Given the description of an element on the screen output the (x, y) to click on. 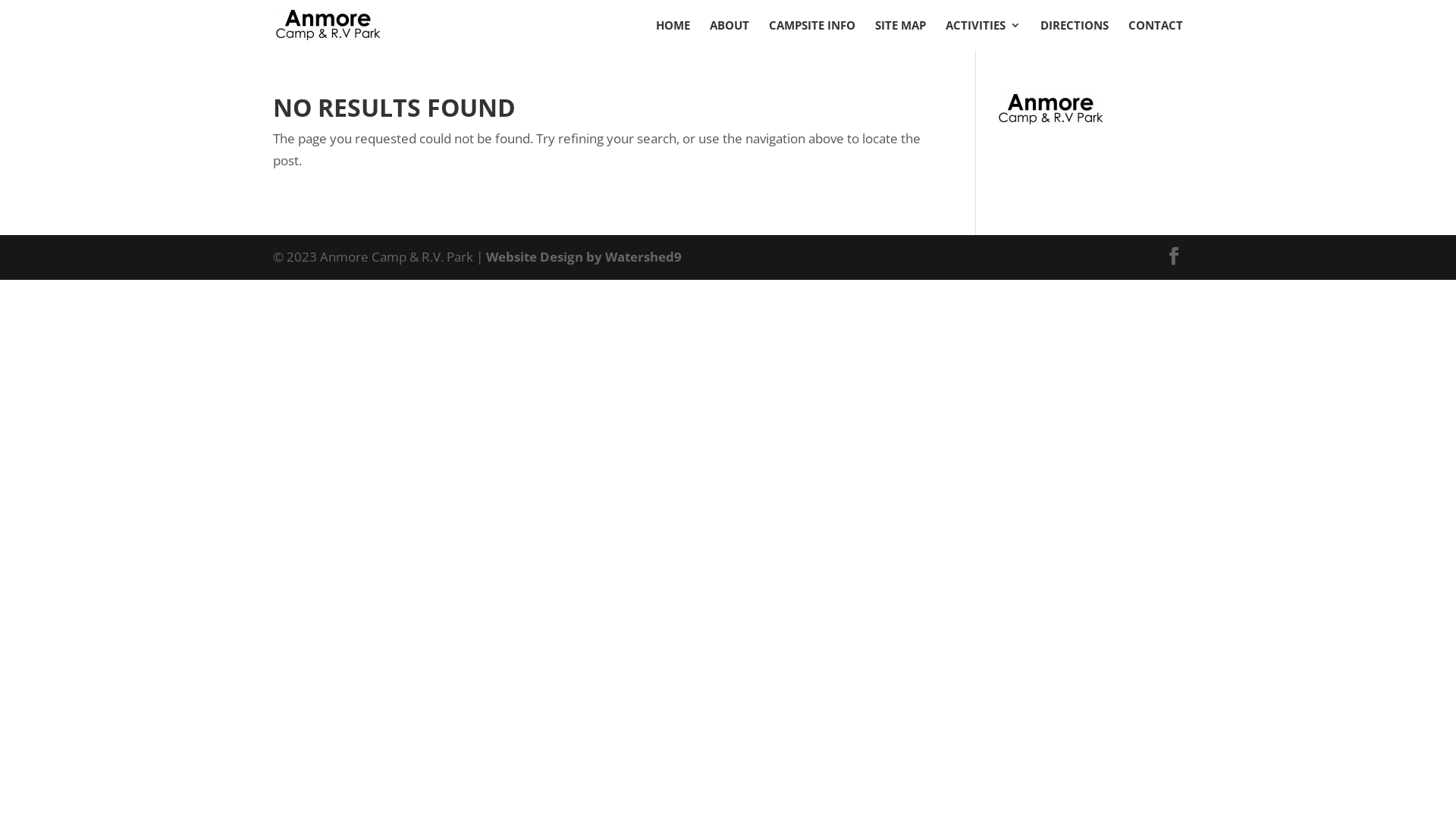
SITE MAP Element type: text (900, 34)
ABOUT Element type: text (729, 34)
Website Design by Watershed9 Element type: text (583, 256)
DIRECTIONS Element type: text (1074, 34)
CONTACT Element type: text (1155, 34)
HOME Element type: text (672, 34)
CAMPSITE INFO Element type: text (811, 34)
ACTIVITIES Element type: text (982, 34)
